Given the description of an element on the screen output the (x, y) to click on. 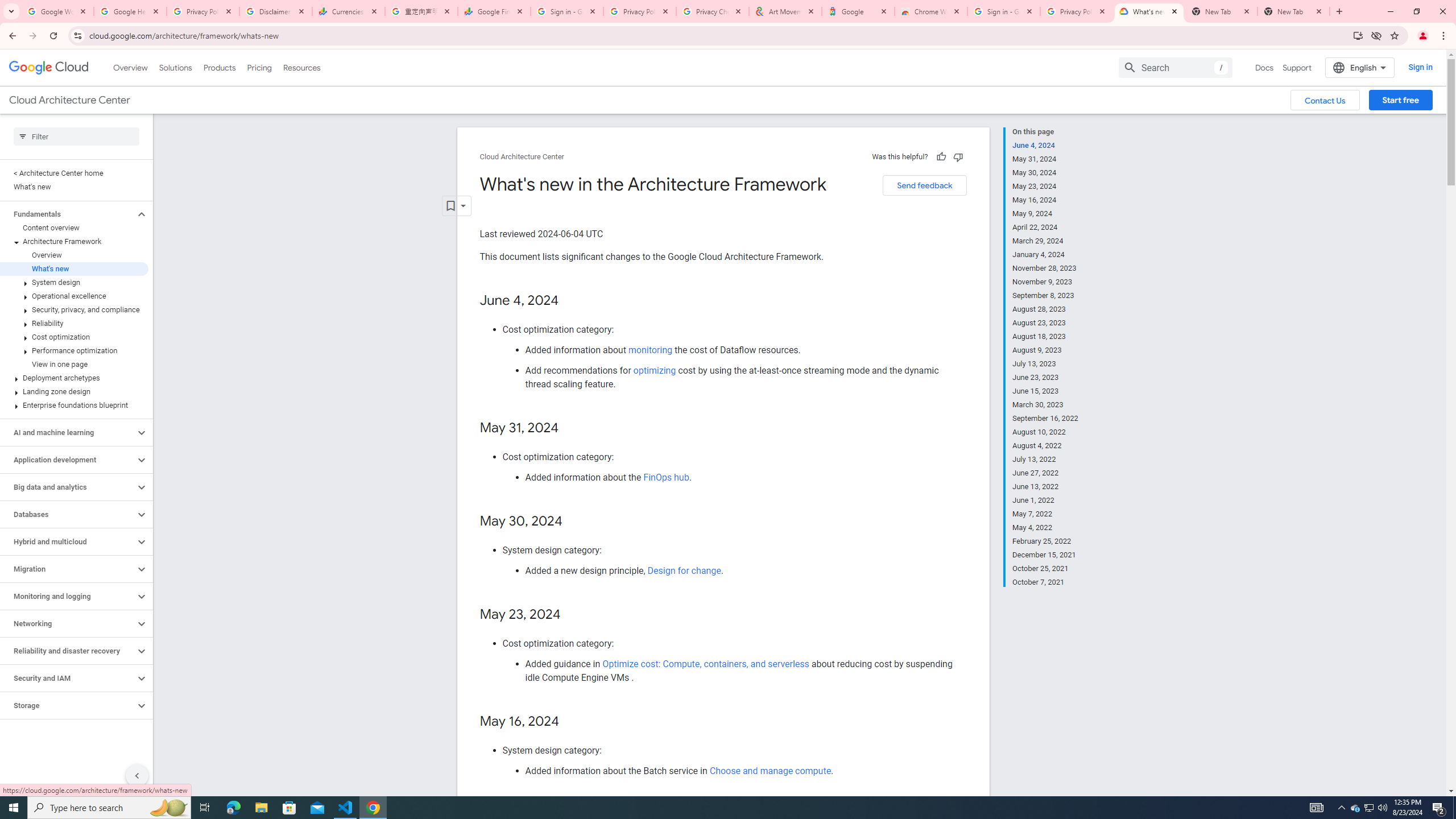
Optimize cost: Compute, containers, and serverless (705, 663)
Start free (1400, 100)
Products (218, 67)
Resources (301, 67)
June 23, 2023 (1044, 377)
October 7, 2021 (1044, 581)
Design for change (683, 570)
Type to filter (76, 136)
June 4, 2024 (1044, 145)
Install Google Cloud (1358, 35)
Application development (67, 459)
Cost optimization (74, 336)
New Tab (1293, 11)
